Given the description of an element on the screen output the (x, y) to click on. 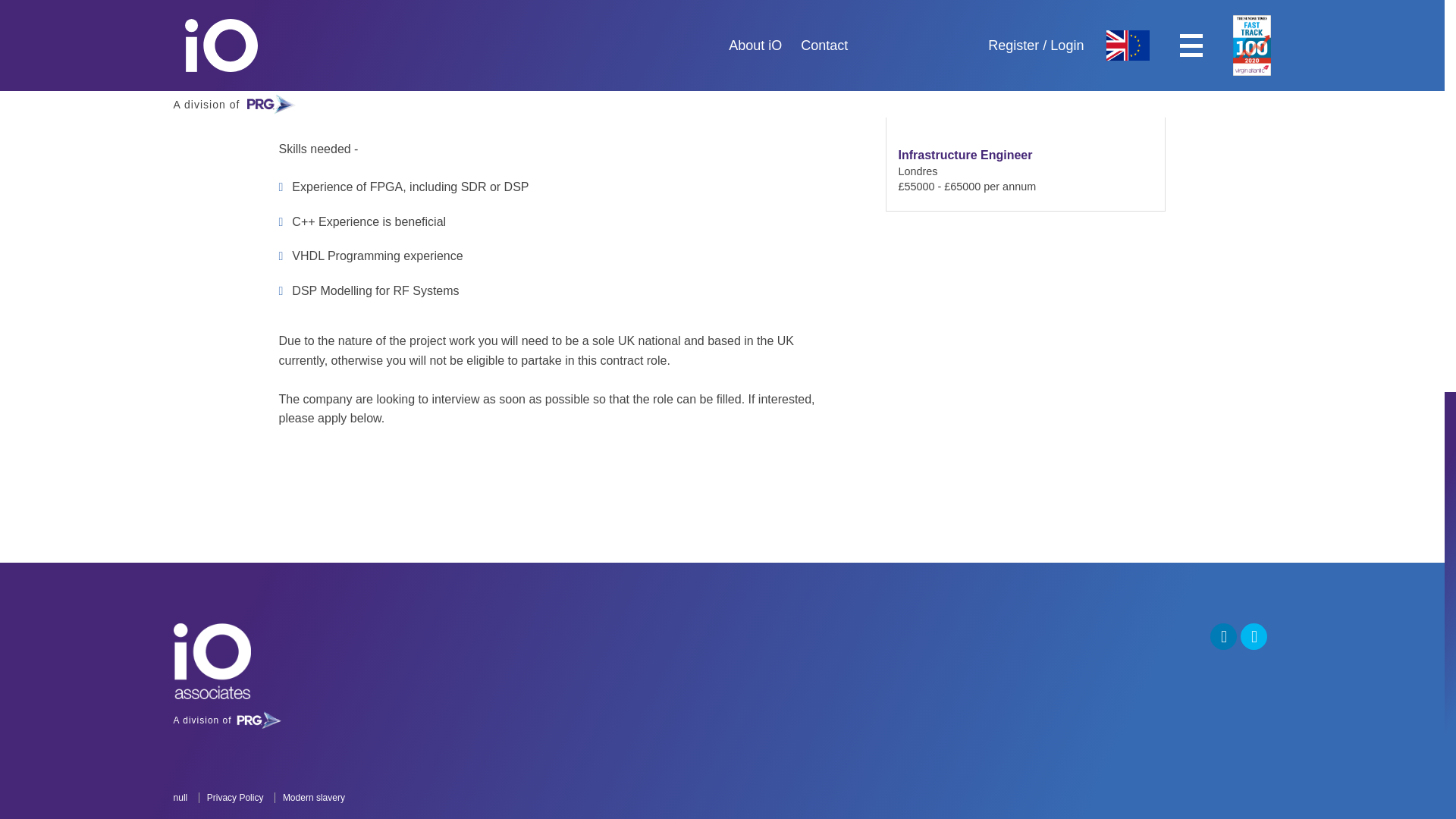
Privacy Policy (283, 719)
Modern slavery (234, 797)
